Given the description of an element on the screen output the (x, y) to click on. 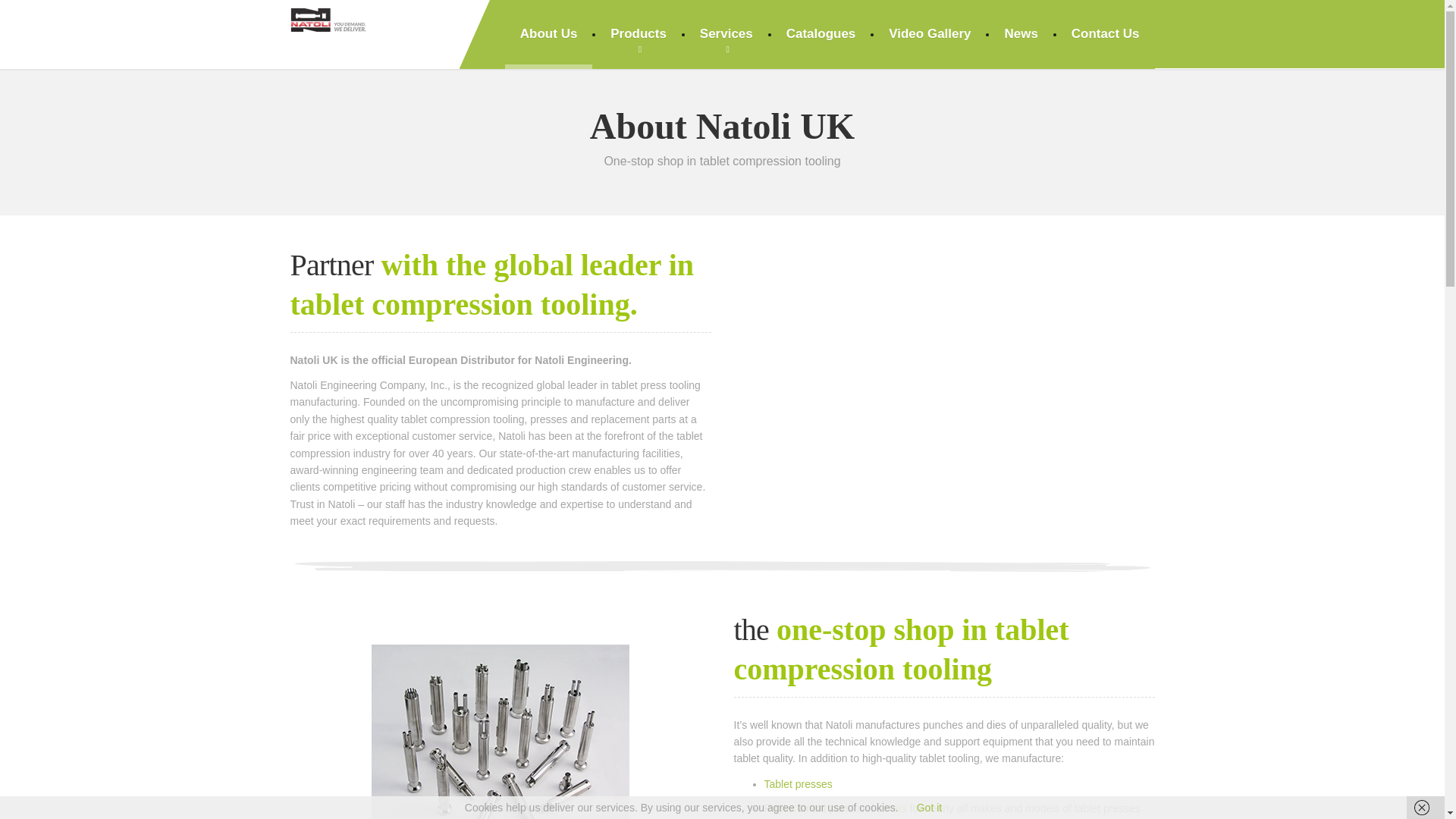
Contact Us (1105, 34)
News (1020, 34)
Natoli UK (327, 16)
About Us (548, 34)
Products (638, 34)
Catalogues (820, 34)
Video Gallery (929, 34)
Services (726, 34)
Tablet Press Replacement Parts (808, 808)
Tablet presses (798, 784)
Got it (929, 807)
Replacement parts (808, 808)
 turrets (890, 808)
Tablet Presses (798, 784)
